Given the description of an element on the screen output the (x, y) to click on. 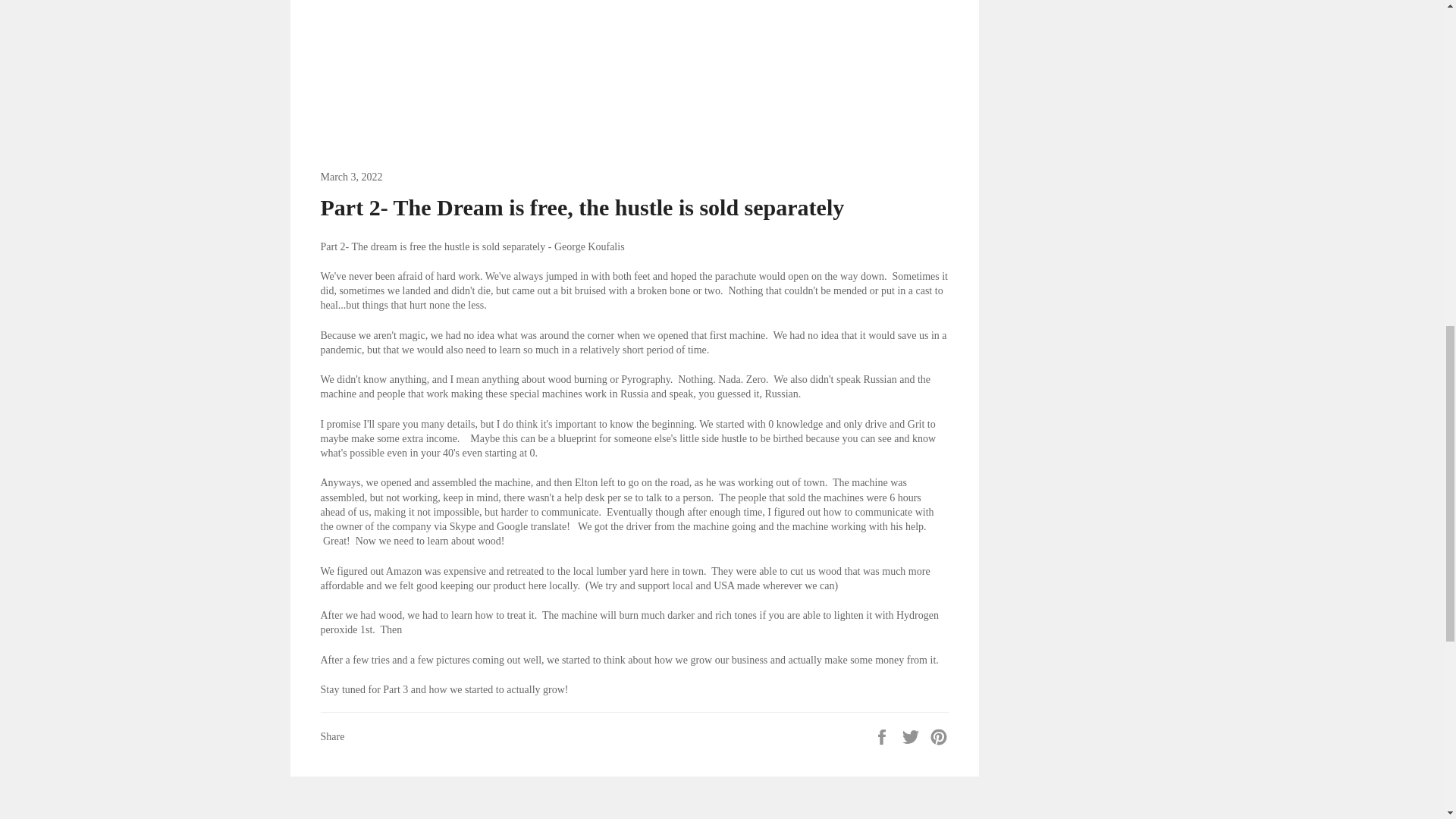
Share on Facebook (882, 736)
Tweet on Twitter (912, 736)
Pin on Pinterest (938, 736)
